Given the description of an element on the screen output the (x, y) to click on. 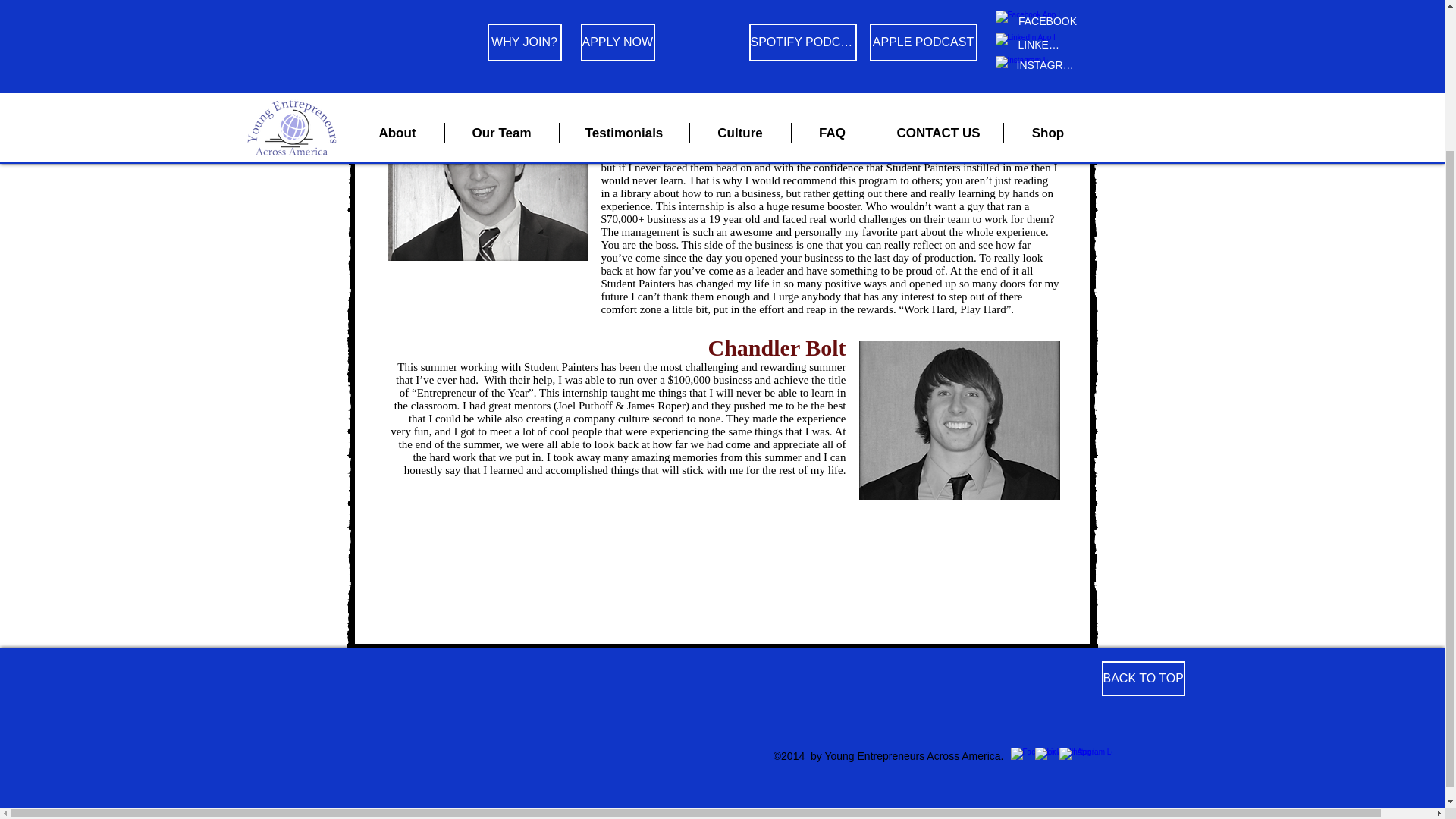
BACK TO TOP (1142, 678)
